Given the description of an element on the screen output the (x, y) to click on. 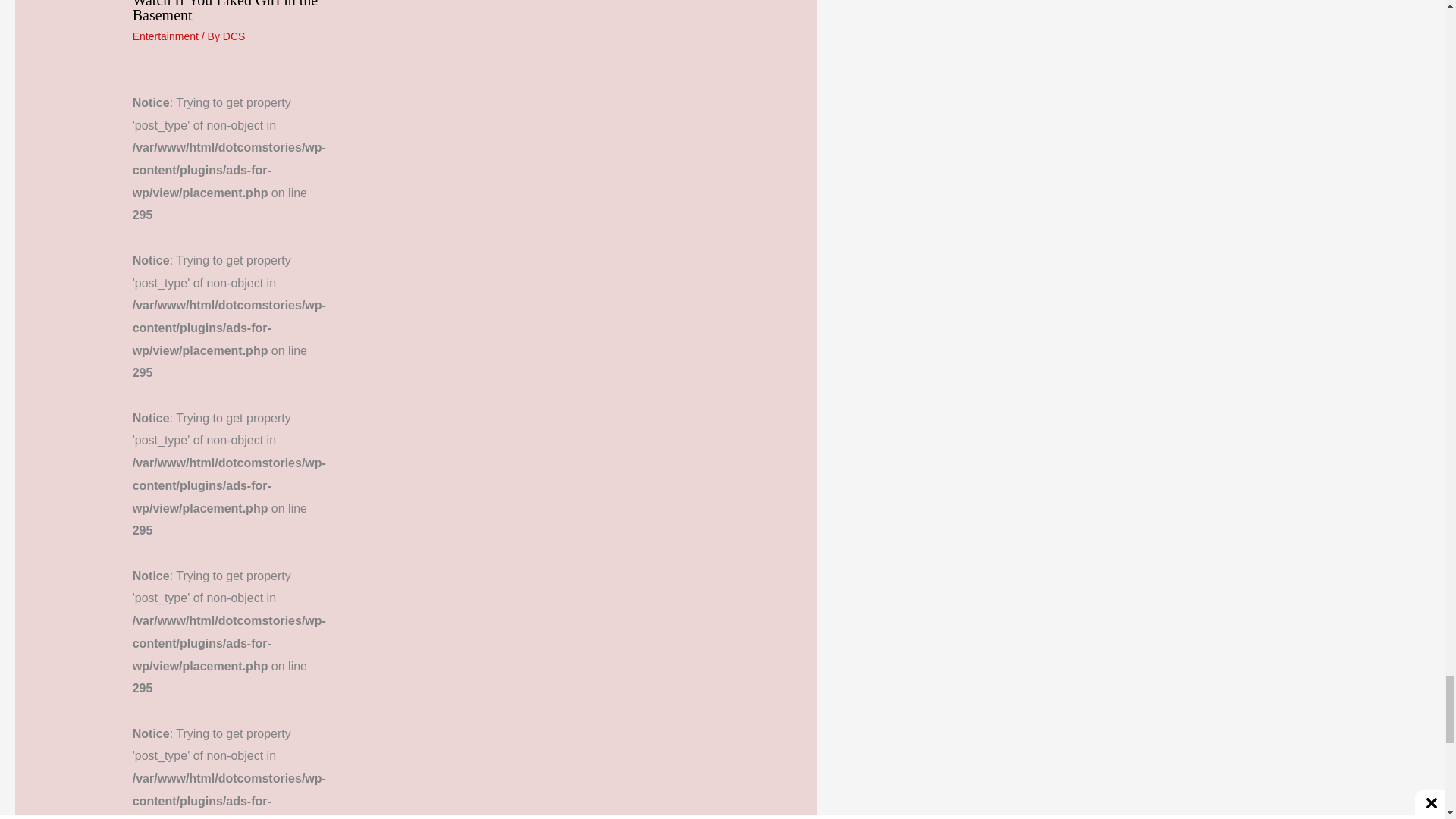
View all posts by DCS (234, 36)
